Given the description of an element on the screen output the (x, y) to click on. 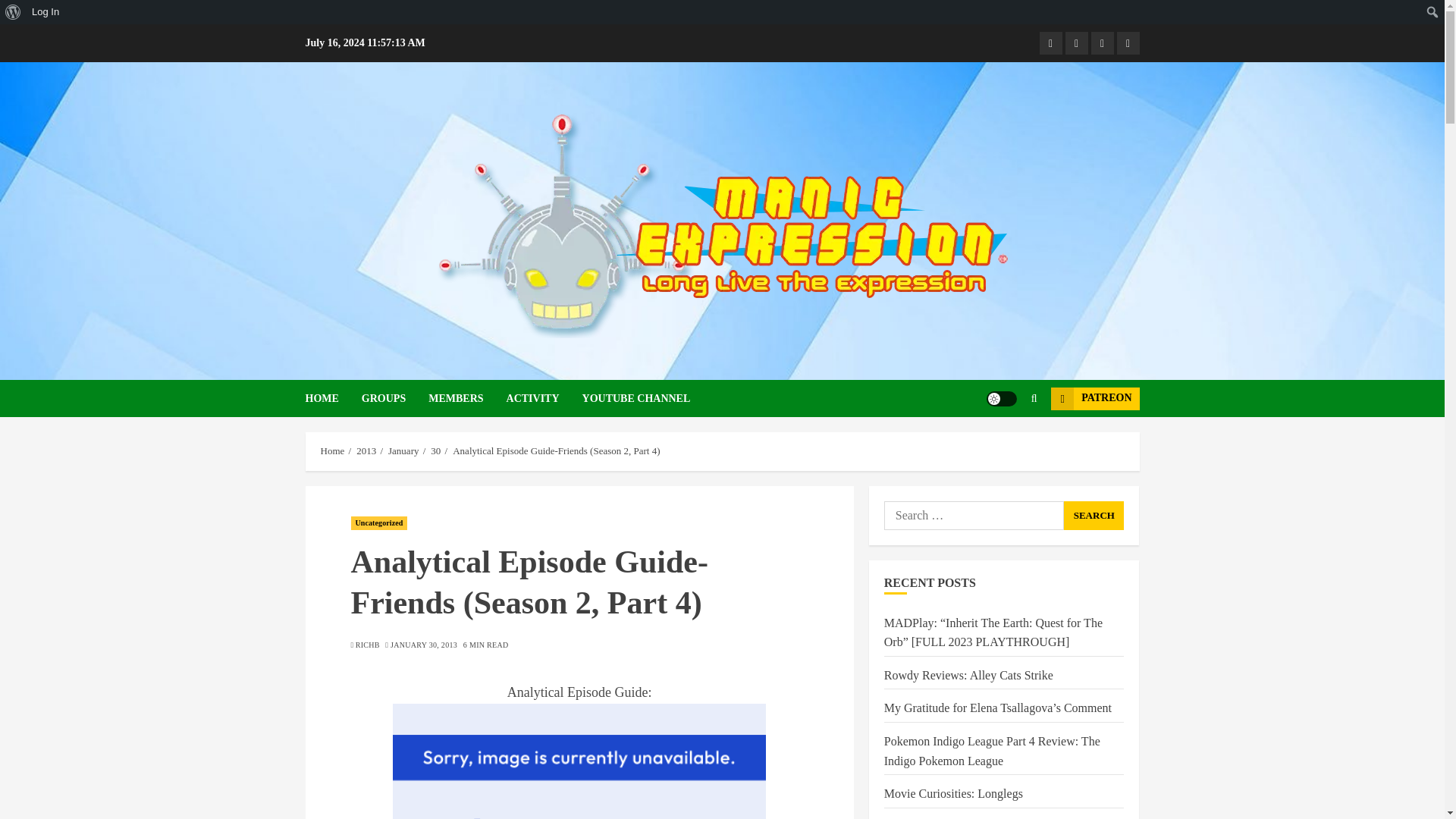
MEMBERS (466, 398)
ACTIVITY (544, 398)
Manic Expression Youtube channel (1075, 42)
Log In (45, 12)
2013 (365, 451)
Home (331, 451)
HOME (332, 398)
Tiktok Manic Expression page (1101, 42)
Search (15, 12)
Twitter (1127, 42)
Facebook page (1050, 42)
PATREON (1094, 397)
January (403, 451)
Search (1094, 515)
GROUPS (394, 398)
